Given the description of an element on the screen output the (x, y) to click on. 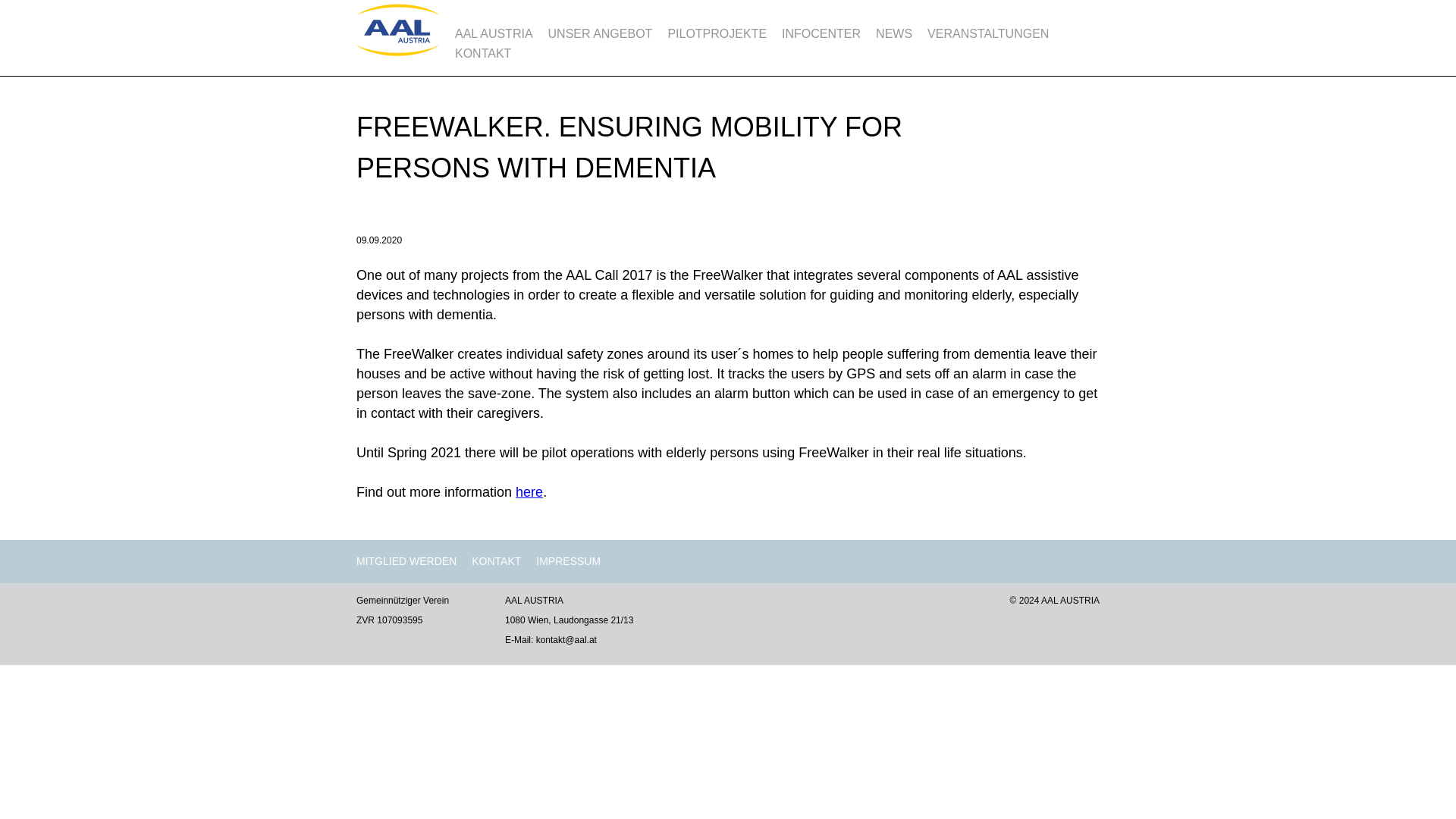
AAL AUSTRIA (493, 33)
KONTAKT (482, 52)
INFOCENTER (820, 33)
AAL (397, 51)
PILOTPROJEKTE (716, 33)
UNSER ANGEBOT (600, 33)
VERANSTALTUNGEN (987, 33)
NEWS (894, 33)
